Given the description of an element on the screen output the (x, y) to click on. 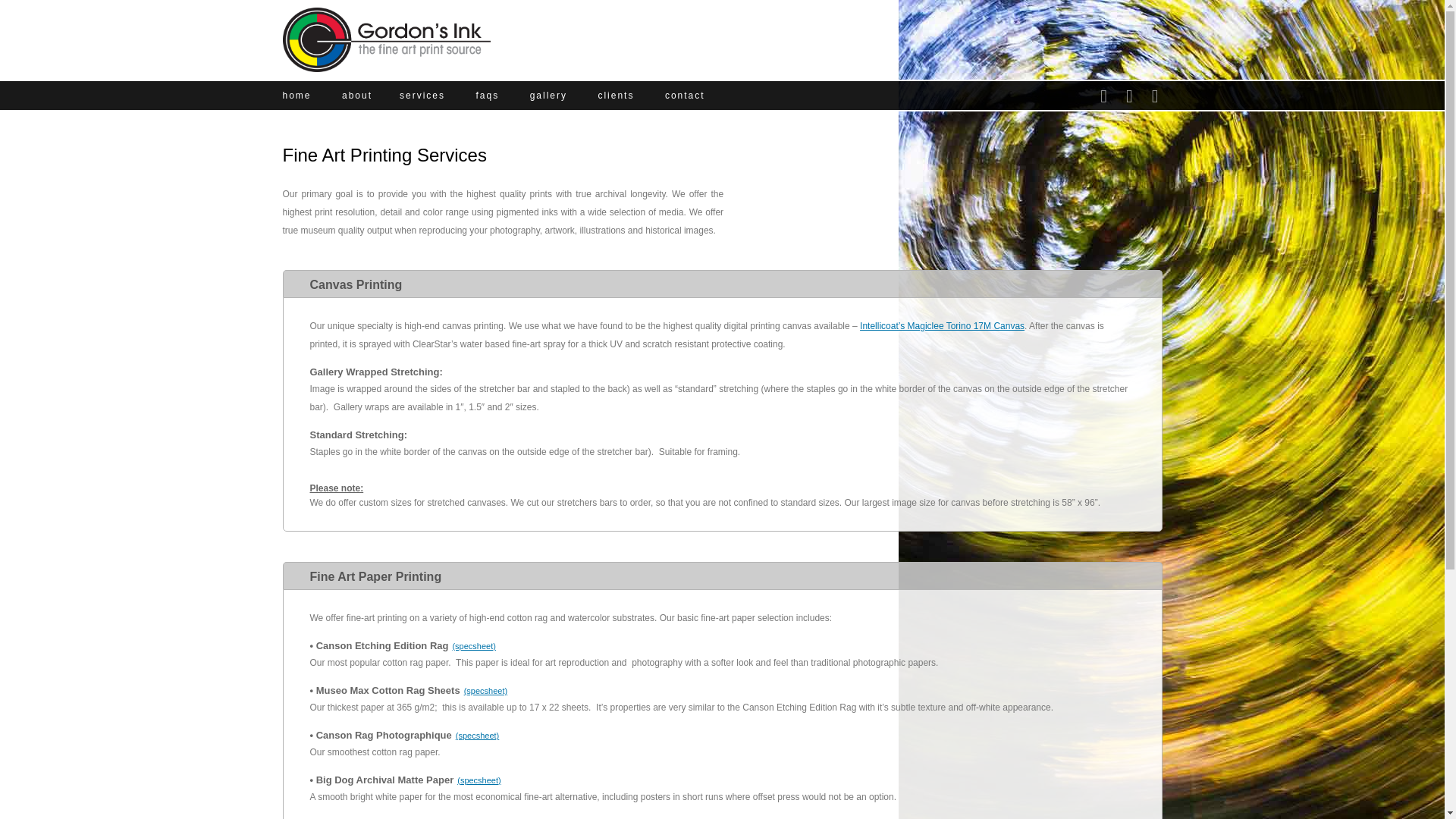
contact (684, 95)
gallery (548, 95)
faqs (487, 95)
about (357, 95)
services (421, 95)
clients (614, 95)
home (296, 95)
